Given the description of an element on the screen output the (x, y) to click on. 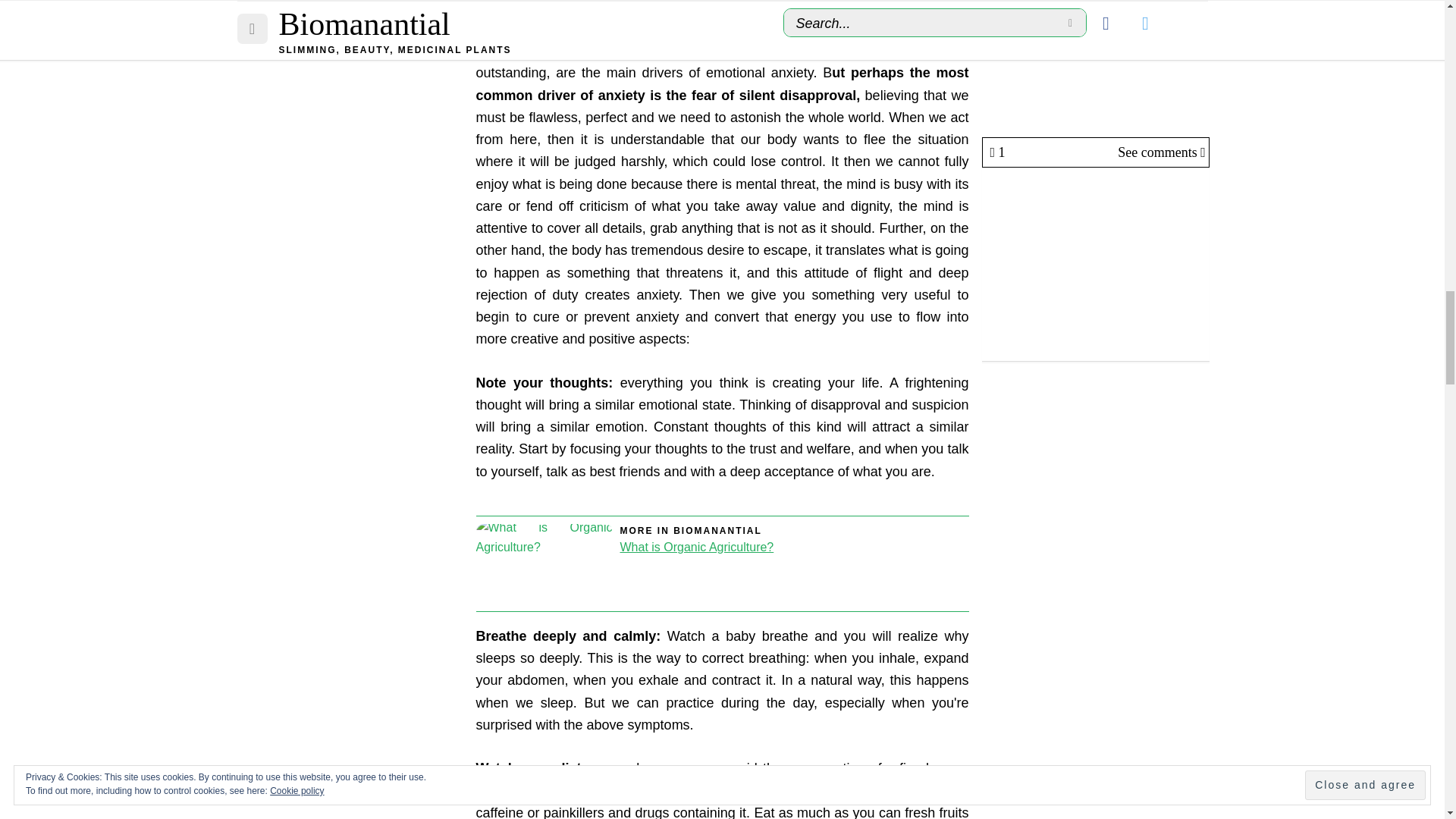
What is Organic Agriculture? (544, 563)
